Given the description of an element on the screen output the (x, y) to click on. 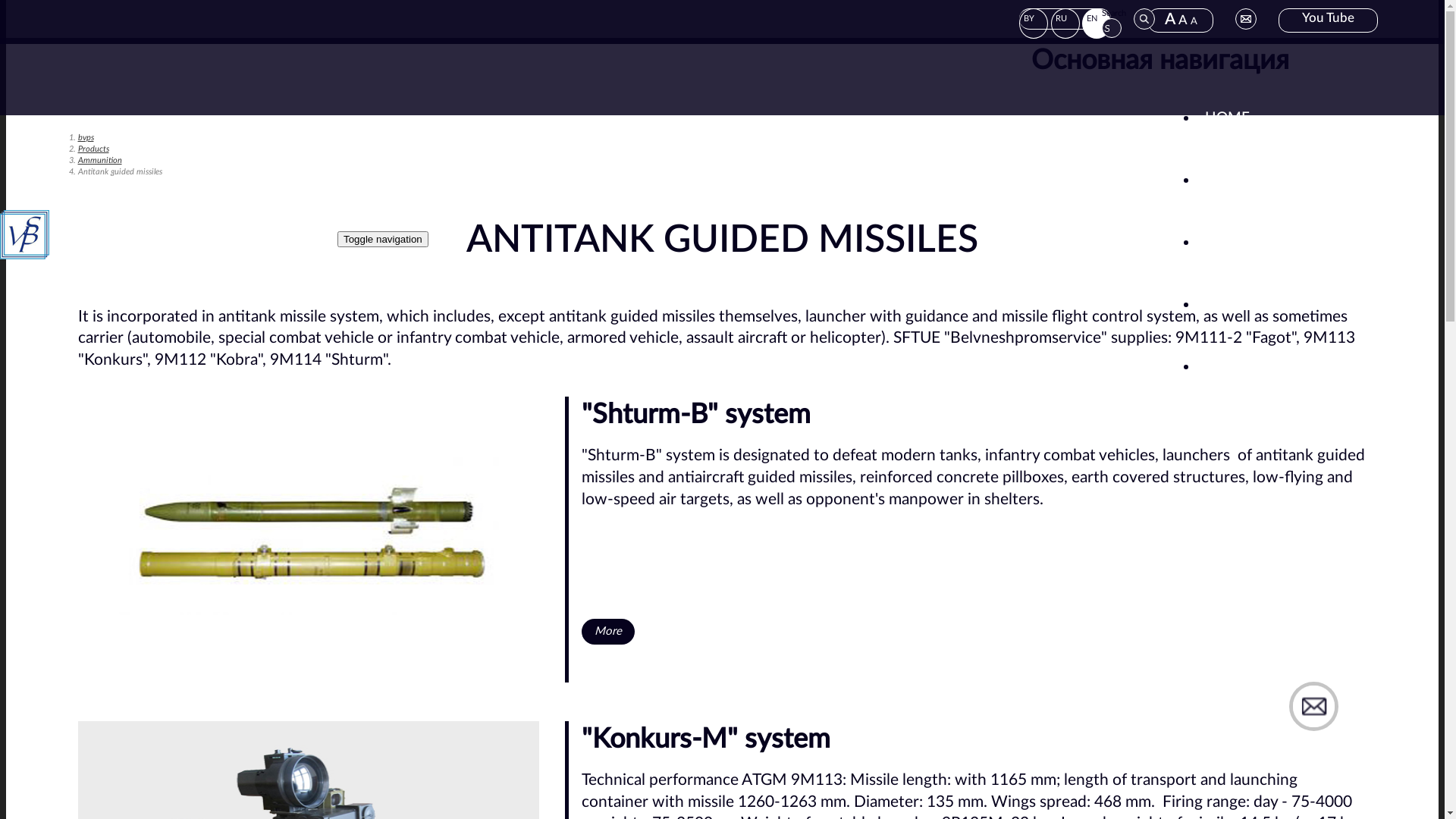
PRODUCTS Element type: text (1243, 304)
"Konkurs-M" system Element type: text (705, 739)
RU Element type: text (1065, 23)
Products Element type: text (92, 148)
More Element type: text (607, 631)
Ammunition Element type: text (99, 160)
HOME Element type: text (1227, 117)
SERVICES Element type: text (1233, 366)
Toggle navigation Element type: text (382, 239)
bvps Element type: text (85, 137)
NEWS Element type: text (1226, 242)
"Shturm-B" system Element type: text (695, 414)
Search Element type: text (21, 7)
Skip to main content Element type: text (6, 0)
BY Element type: text (1033, 23)
You Tube Element type: text (1327, 20)
ABOUT Element type: text (1229, 180)
EN Element type: text (1096, 23)
AAA Element type: text (1180, 20)
Home Element type: hover (166, 256)
